Given the description of an element on the screen output the (x, y) to click on. 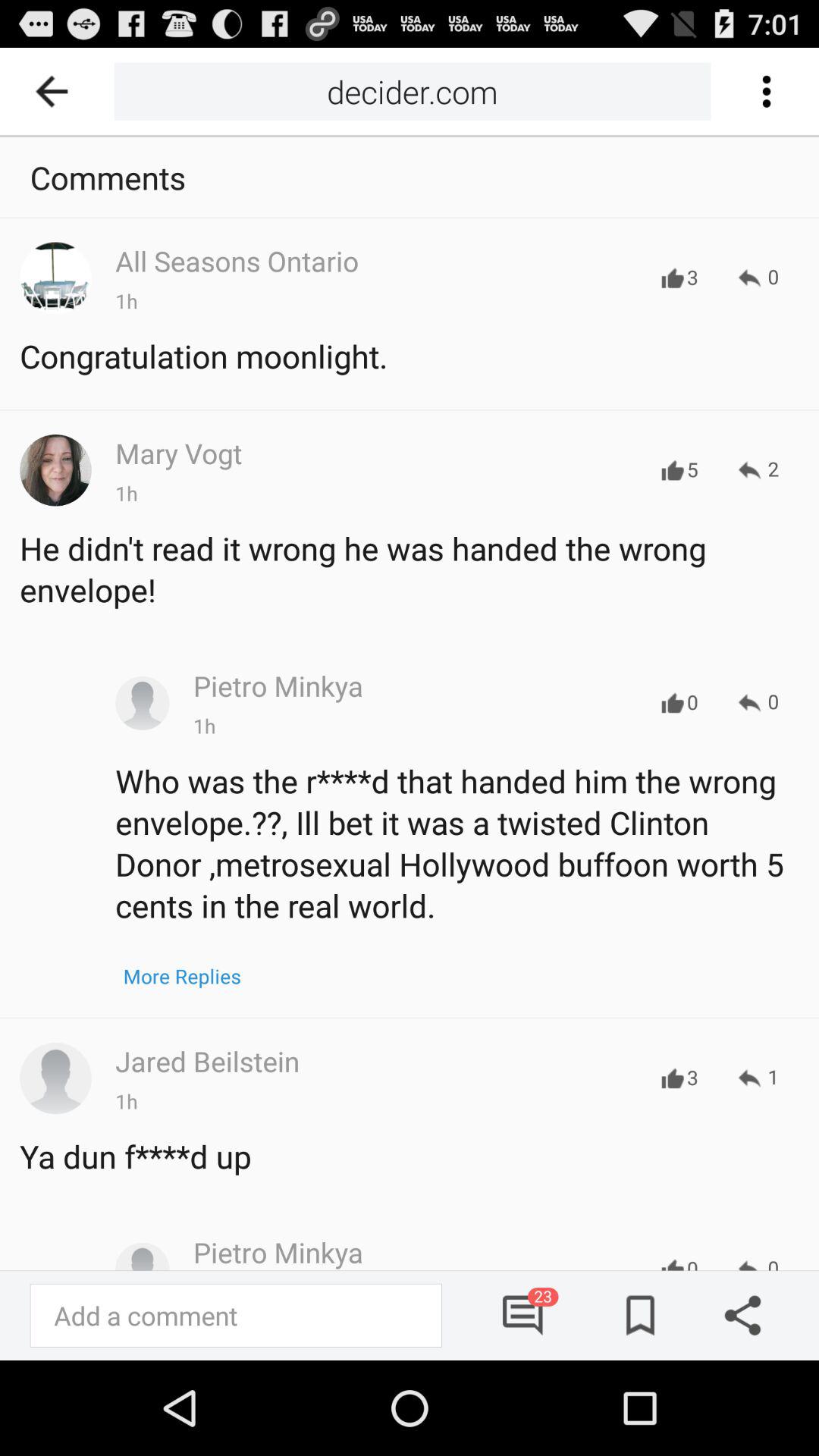
view profile photo (55, 1078)
